Given the description of an element on the screen output the (x, y) to click on. 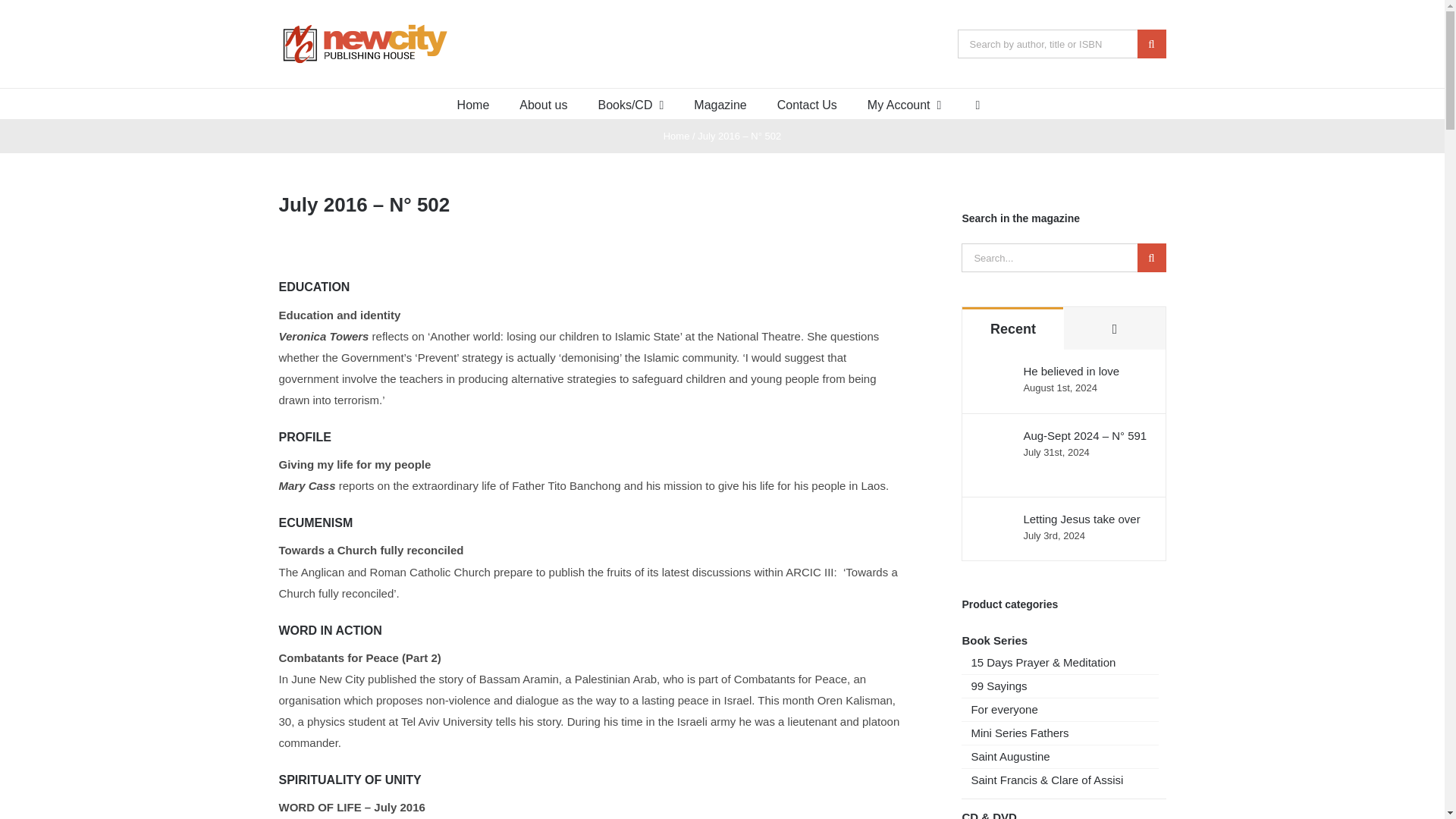
Contact Us (807, 103)
My Account (904, 103)
Magazine (719, 103)
Log In (959, 243)
Home (676, 135)
Home (473, 103)
About us (543, 103)
